Given the description of an element on the screen output the (x, y) to click on. 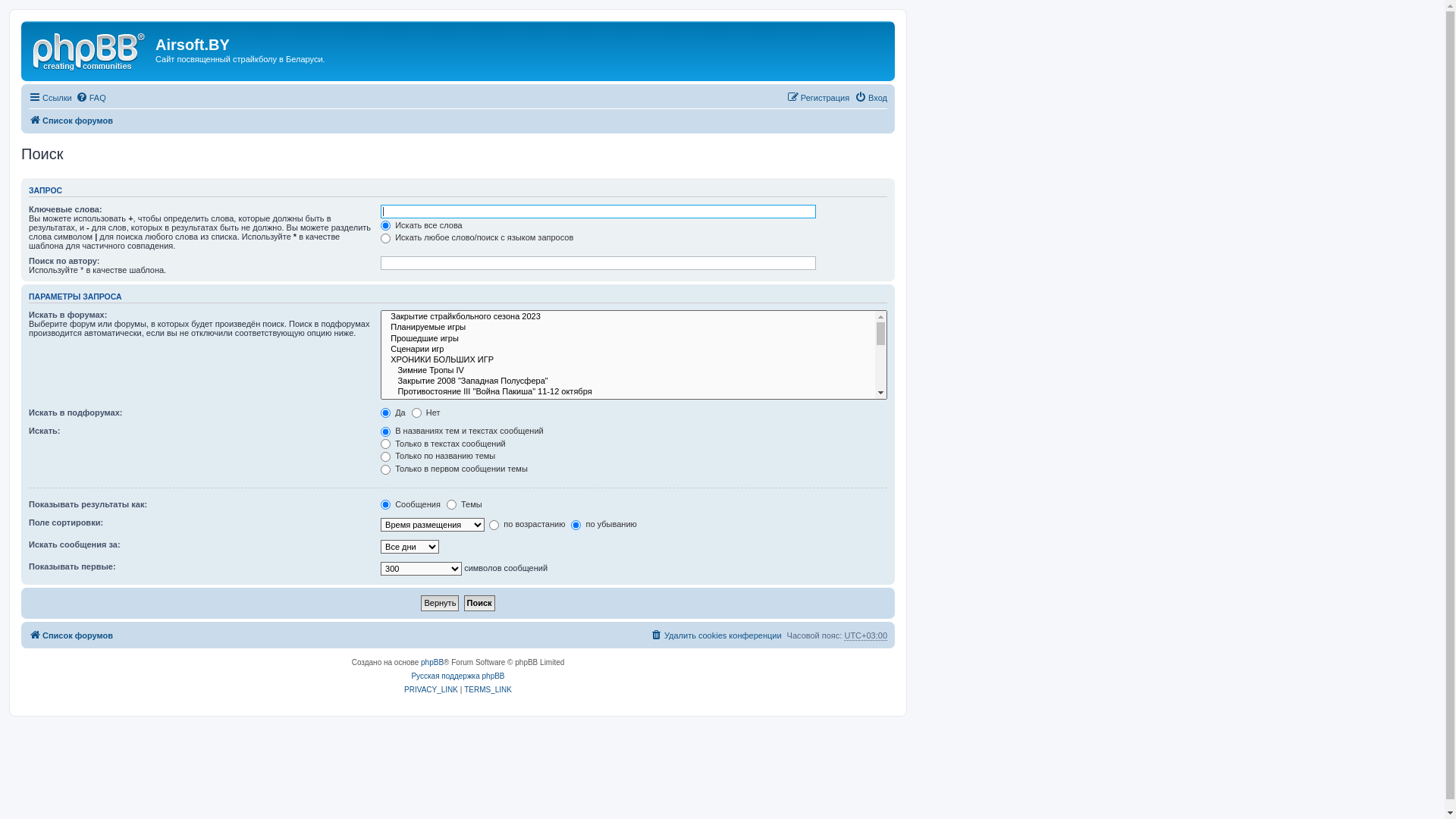
FAQ Element type: text (90, 97)
PRIVACY_LINK Element type: text (431, 689)
TERMS_LINK Element type: text (487, 689)
phpBB Element type: text (431, 662)
